Given the description of an element on the screen output the (x, y) to click on. 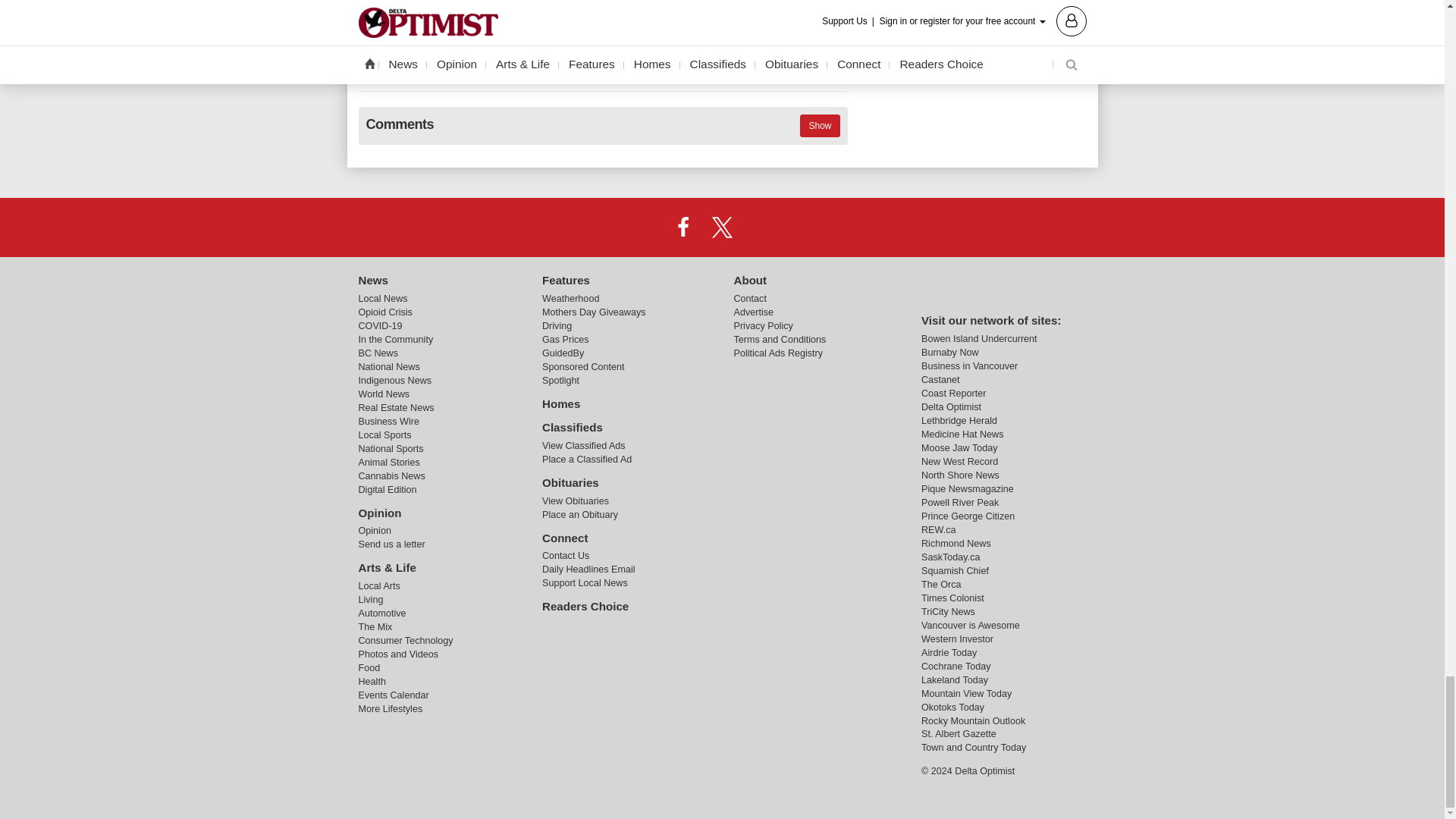
Instagram (760, 226)
Facebook (683, 226)
X (721, 226)
